Given the description of an element on the screen output the (x, y) to click on. 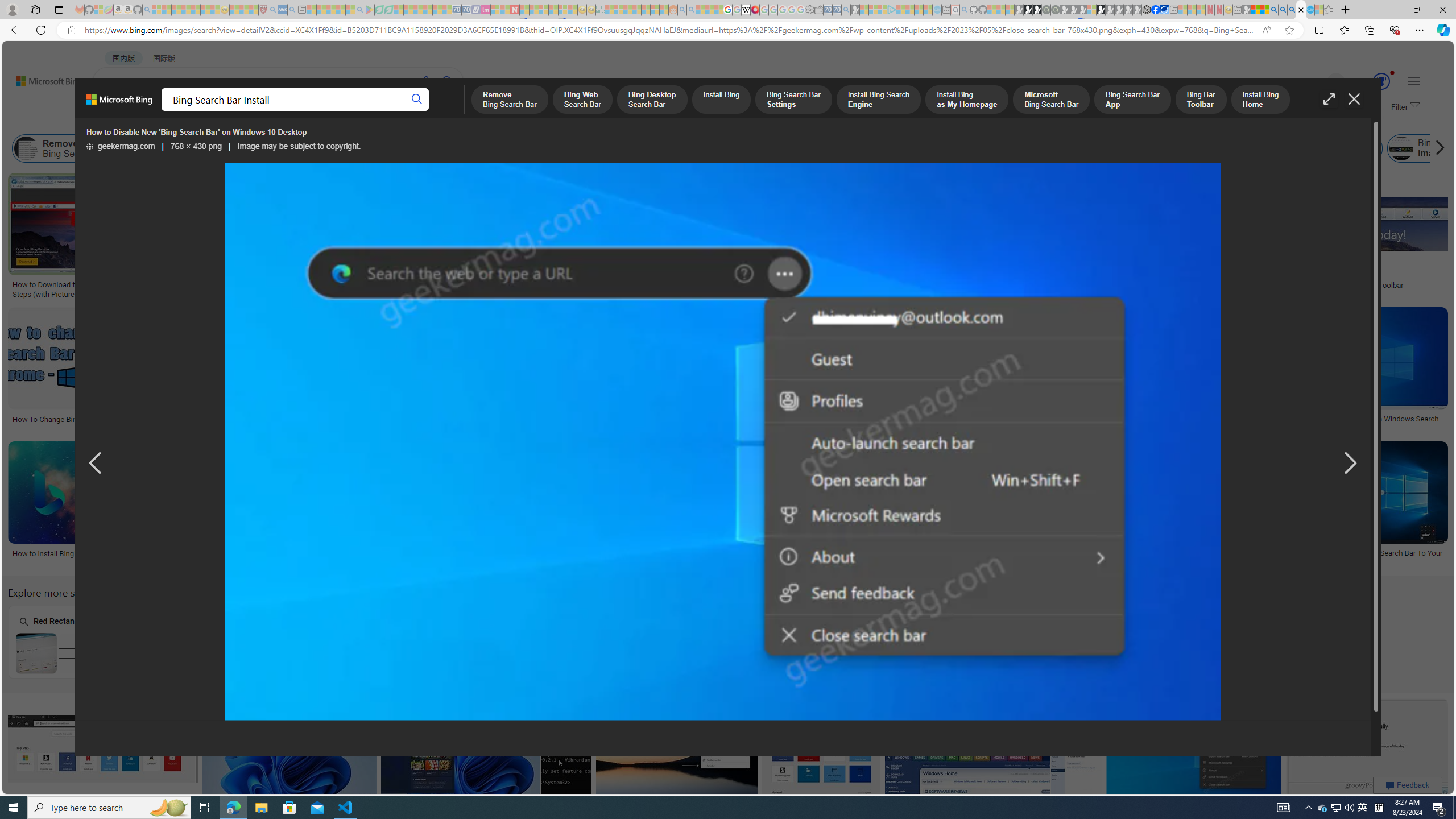
Bing Search Bar Enter Key (370, 652)
MediaWiki (754, 9)
1:46 (895, 183)
